Given the description of an element on the screen output the (x, y) to click on. 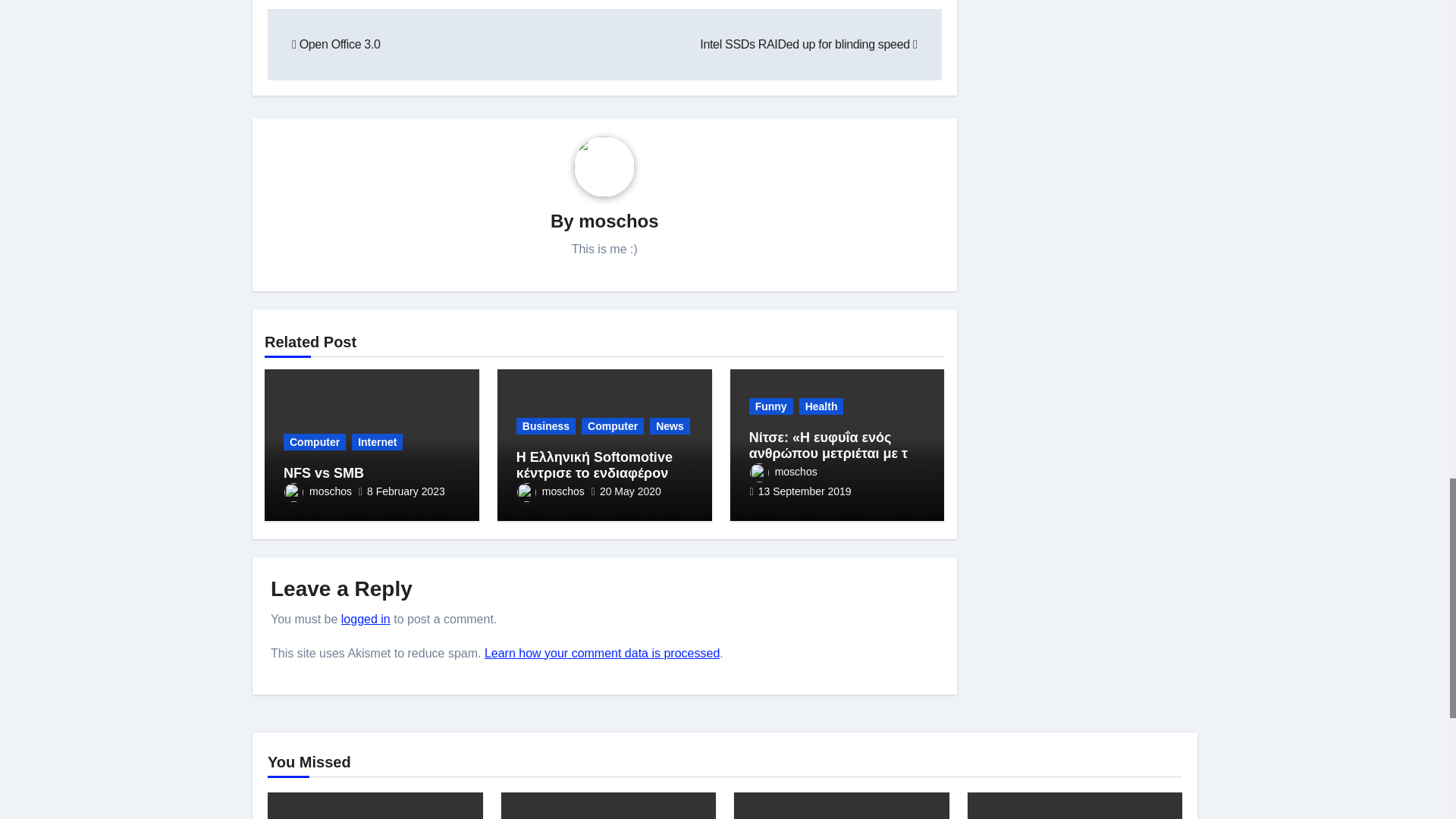
Permalink to: NFS vs SMB (323, 473)
